Given the description of an element on the screen output the (x, y) to click on. 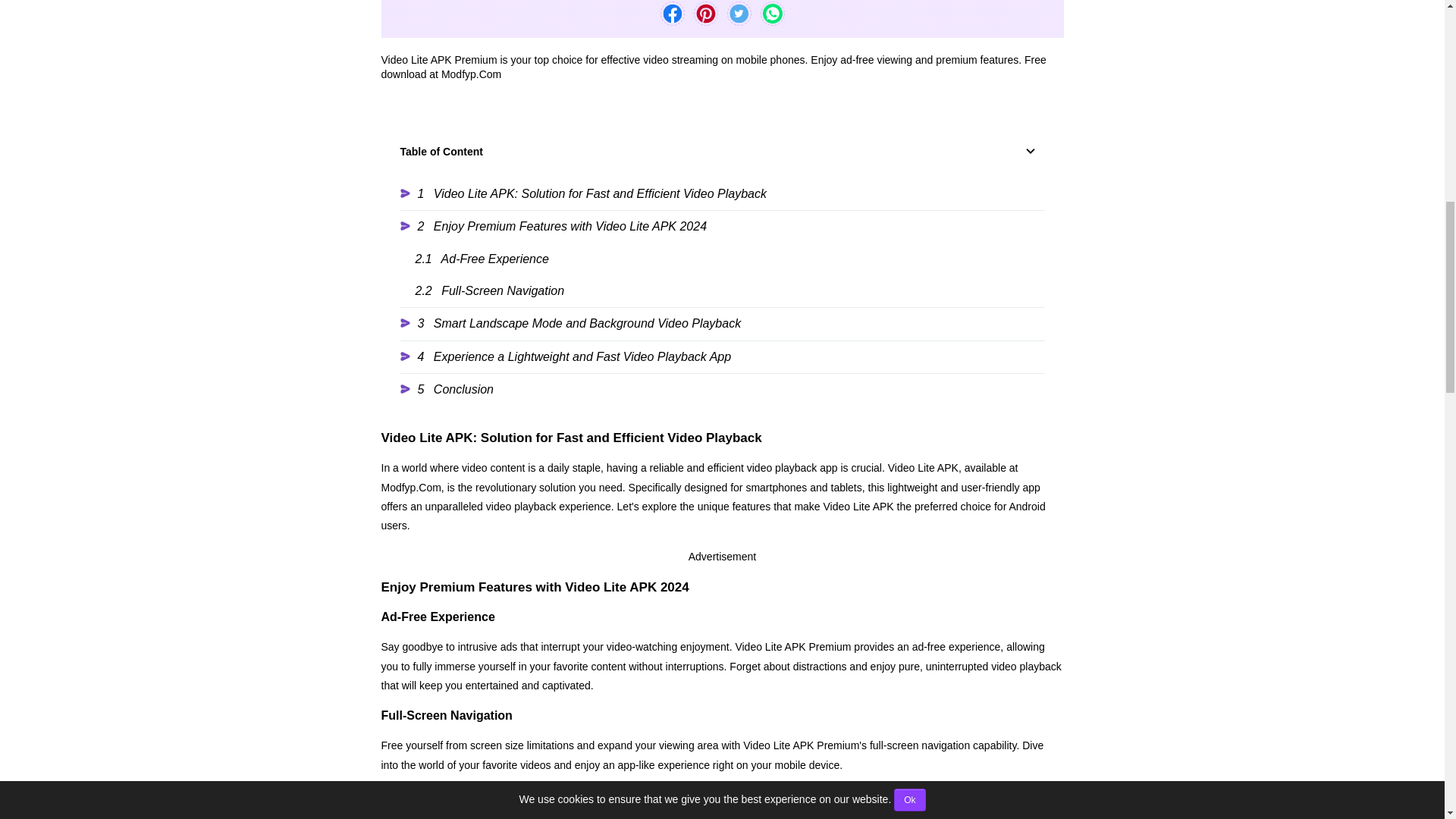
3 Smart Landscape Mode and Background Video Playback (722, 323)
5 Conclusion (722, 389)
4 Experience a Lightweight and Fast Video Playback App (722, 356)
2.2 Full-Screen Navigation (729, 291)
2 Enjoy Premium Features with Video Lite APK 2024 (722, 225)
2.1 Ad-Free Experience (729, 259)
